Given the description of an element on the screen output the (x, y) to click on. 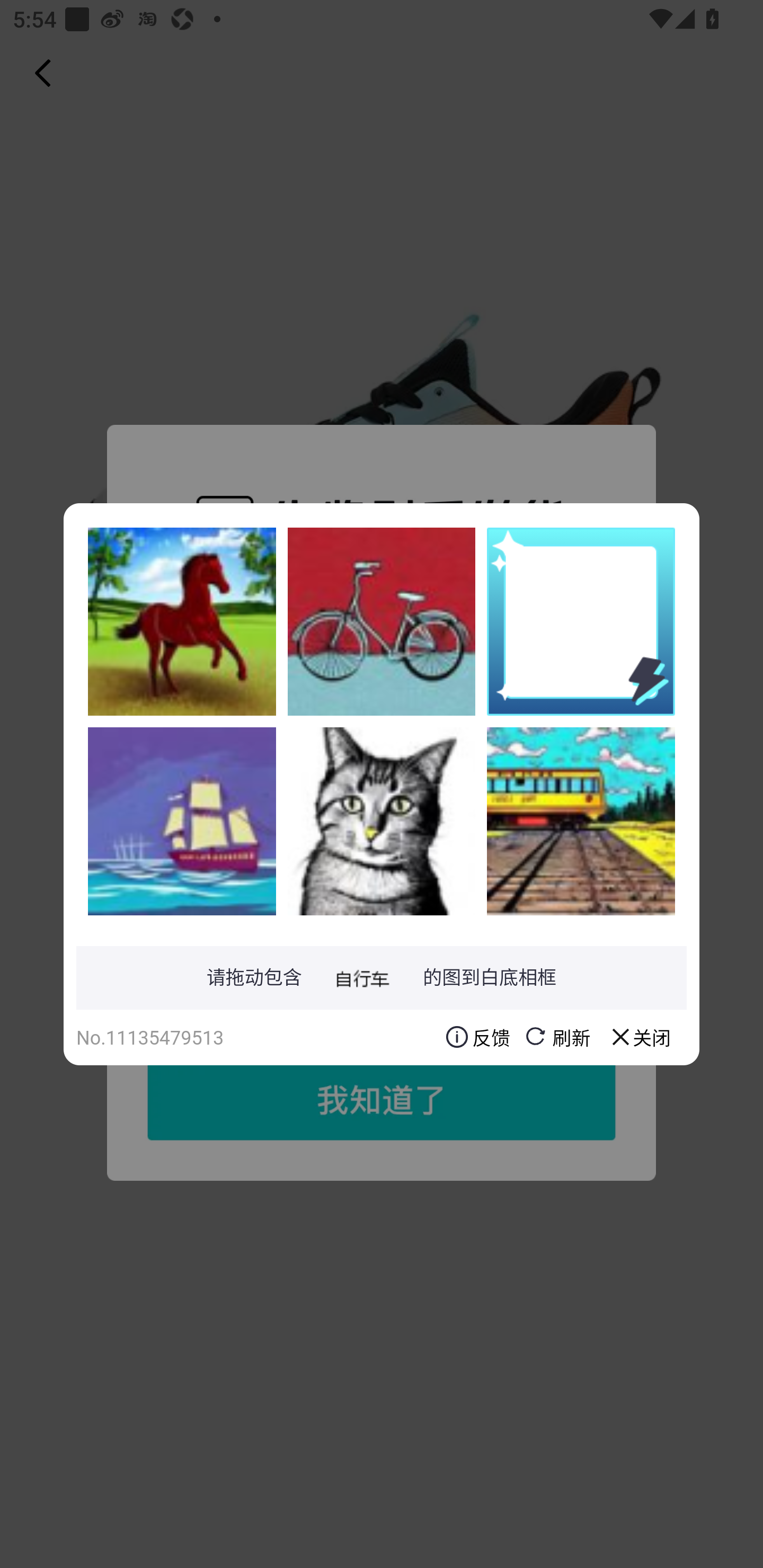
UVYaNqgn9evVNVCHDR0sy5YultnBM2X7tlh16w2ybX (381, 820)
IKLueu4X (580, 820)
